Given the description of an element on the screen output the (x, y) to click on. 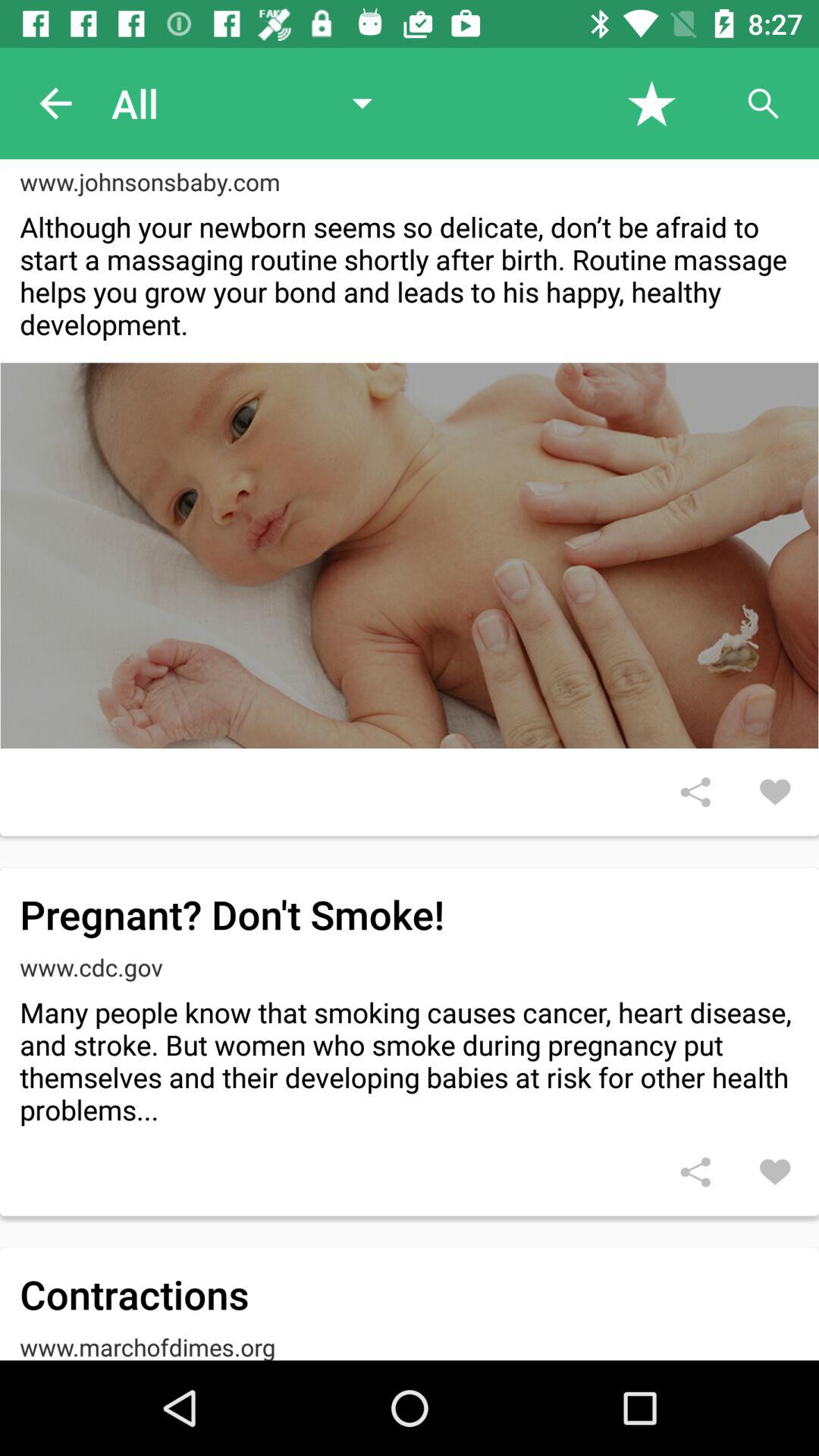
favorite option (775, 1172)
